Given the description of an element on the screen output the (x, y) to click on. 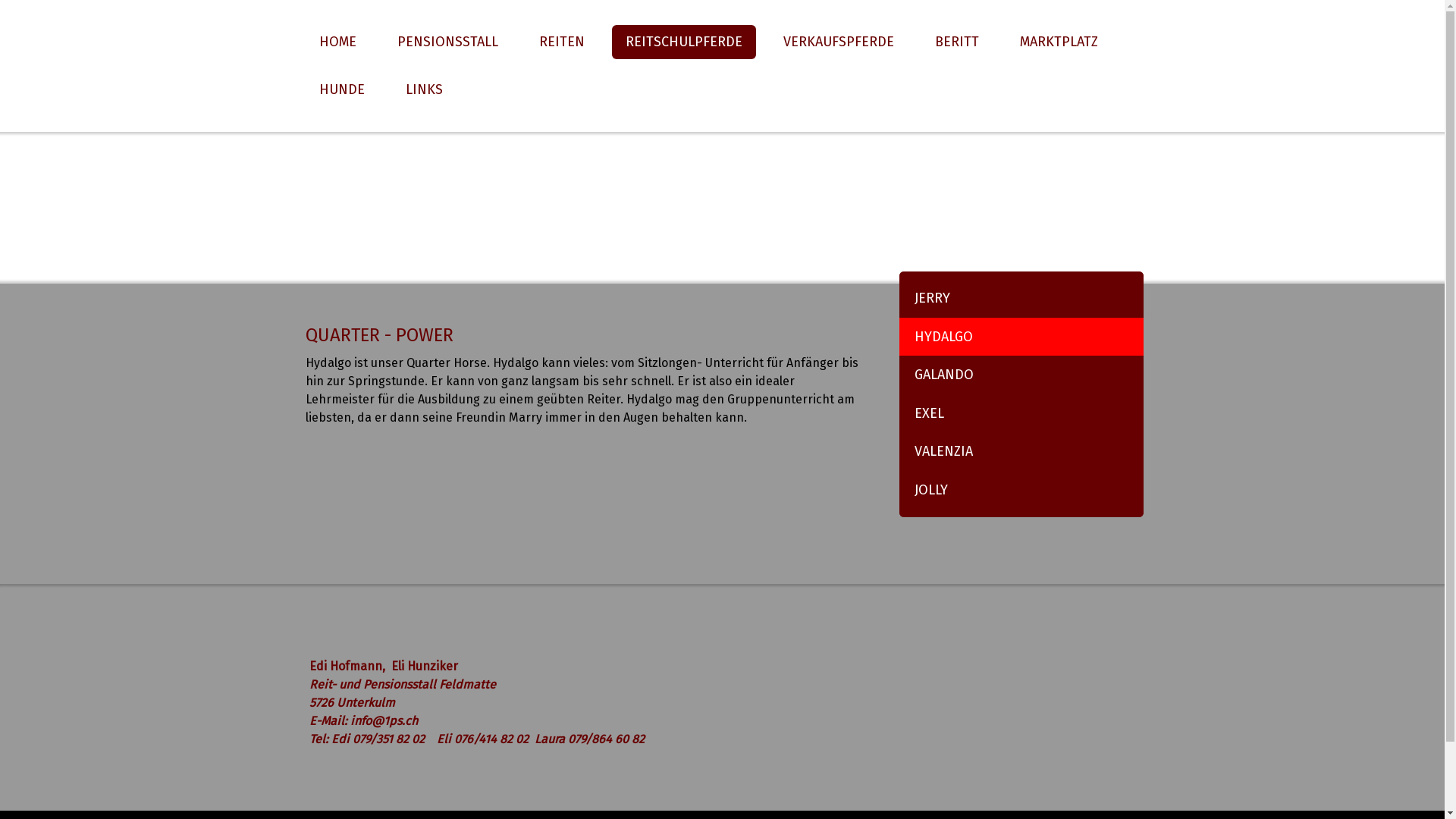
HOME Element type: text (336, 42)
VERKAUFSPFERDE Element type: text (837, 42)
LINKS Element type: text (423, 89)
REITEN Element type: text (560, 42)
PENSIONSSTALL Element type: text (447, 42)
MARKTPLATZ Element type: text (1057, 42)
HYDALGO Element type: text (1021, 336)
HUNDE Element type: text (340, 89)
JOLLY Element type: text (1021, 493)
VALENZIA Element type: text (1021, 451)
JERRY Element type: text (1021, 294)
BERITT Element type: text (955, 42)
REITSCHULPFERDE Element type: text (683, 42)
GALANDO Element type: text (1021, 374)
EXEL Element type: text (1021, 413)
